Given the description of an element on the screen output the (x, y) to click on. 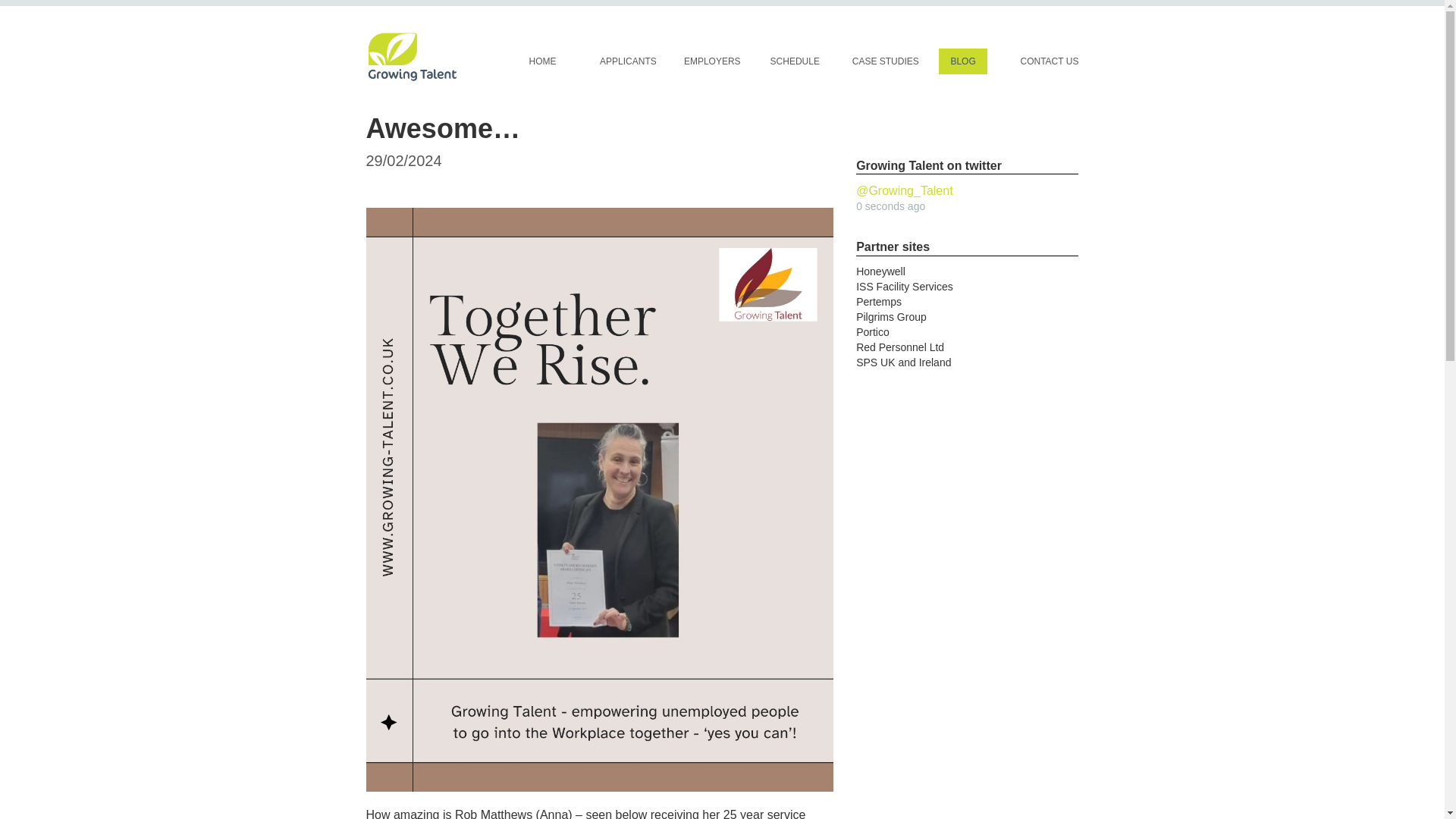
Red Personnel Ltd (899, 346)
SPS UK and Ireland (903, 362)
Portico (872, 331)
Pertemps (878, 301)
Rob Matthews (493, 813)
APPLICANTS (628, 61)
SCHEDULE (794, 61)
HOME (542, 61)
CASE STUDIES (885, 61)
BLOG (963, 61)
CONTACT US (1049, 61)
Honeywell (880, 271)
Growing Talent (542, 61)
EMPLOYERS (712, 61)
ISS Facility Services (904, 286)
